Given the description of an element on the screen output the (x, y) to click on. 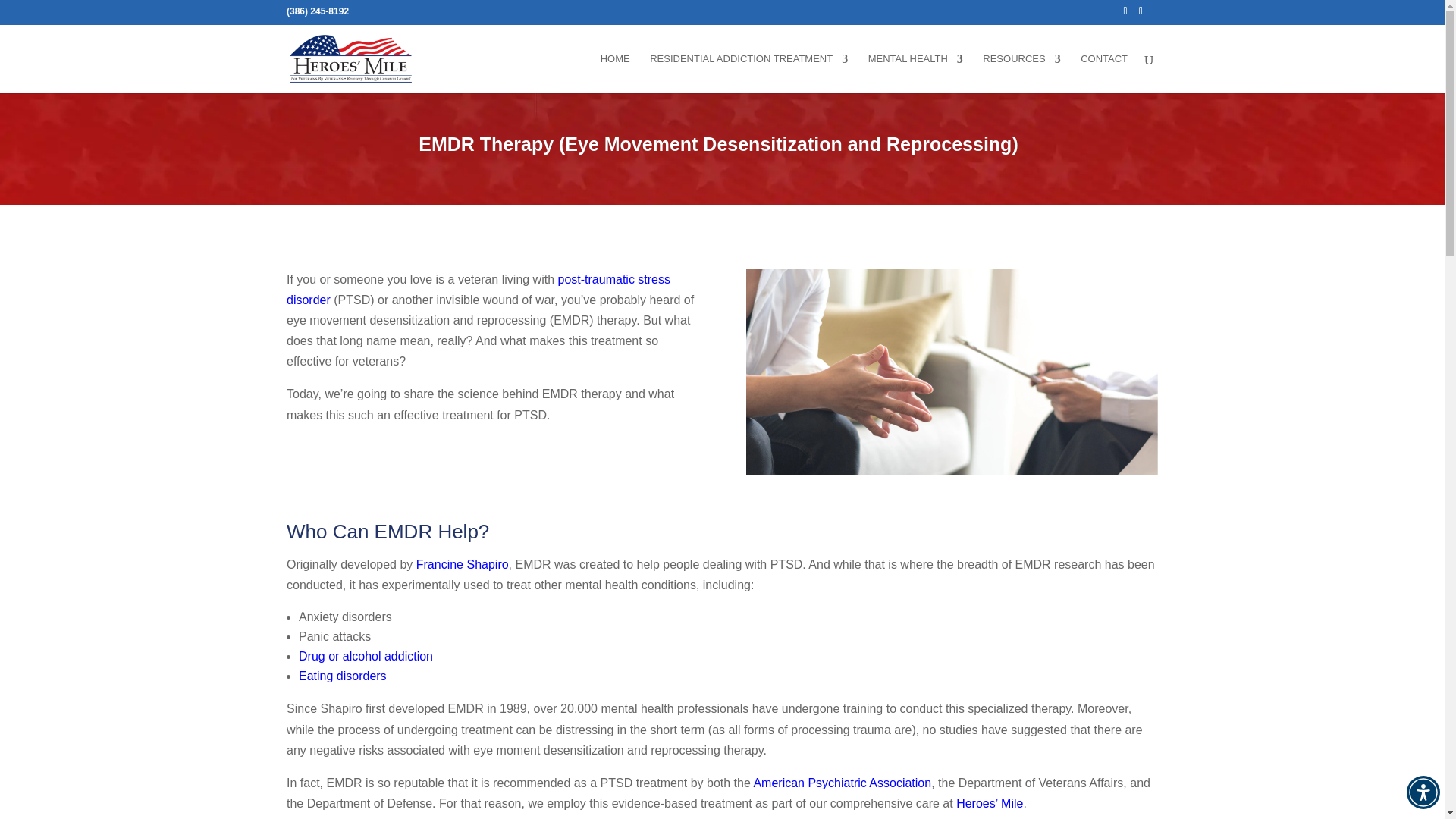
RESOURCES (1020, 72)
CONTACT (1103, 72)
Accessibility Menu (1422, 792)
RESIDENTIAL ADDICTION TREATMENT (748, 72)
MENTAL HEALTH (914, 72)
Veteran Programs and Services (748, 72)
Heroes Mile Phone Number (317, 14)
